Given the description of an element on the screen output the (x, y) to click on. 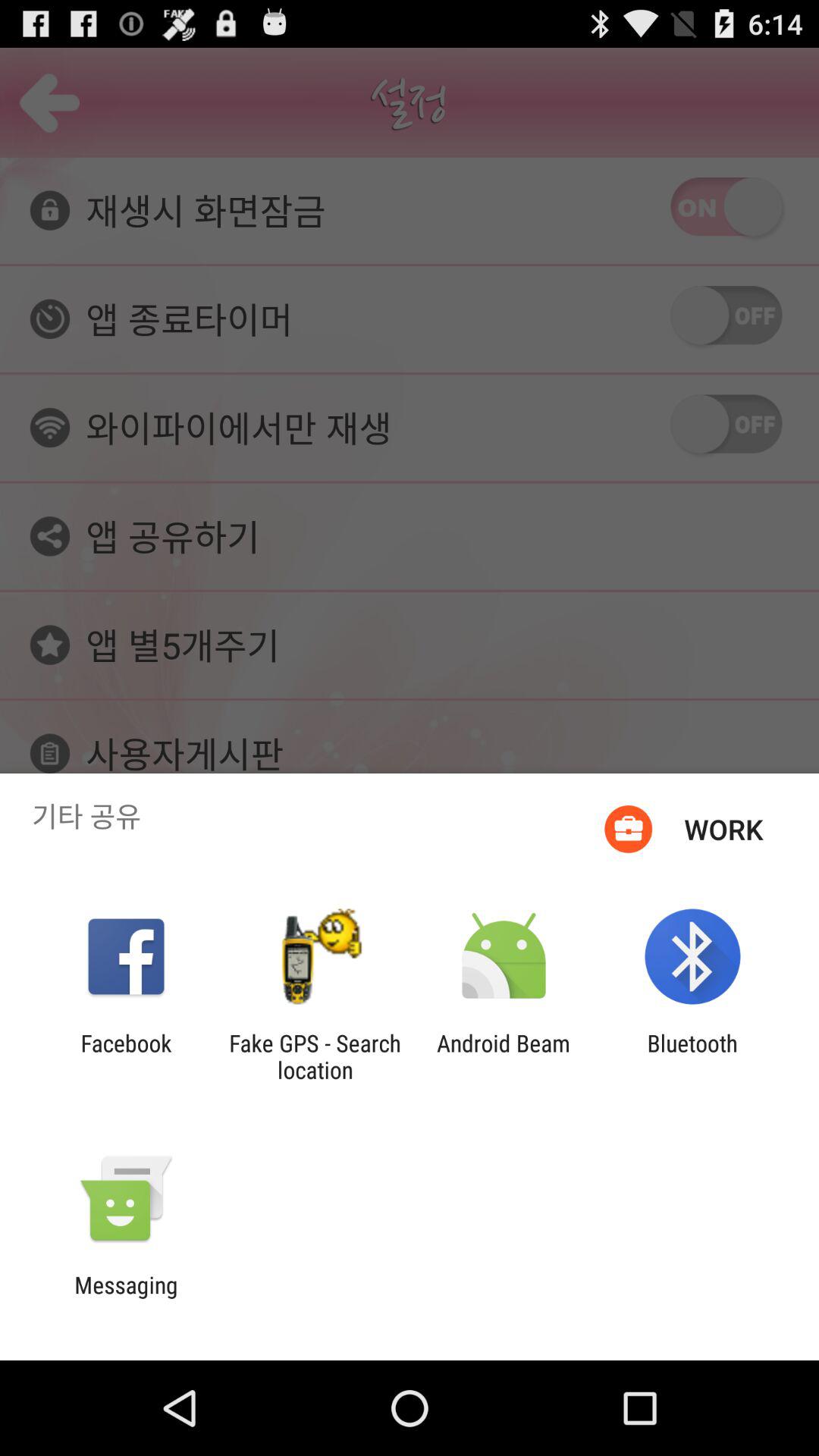
turn off the item next to facebook (314, 1056)
